Given the description of an element on the screen output the (x, y) to click on. 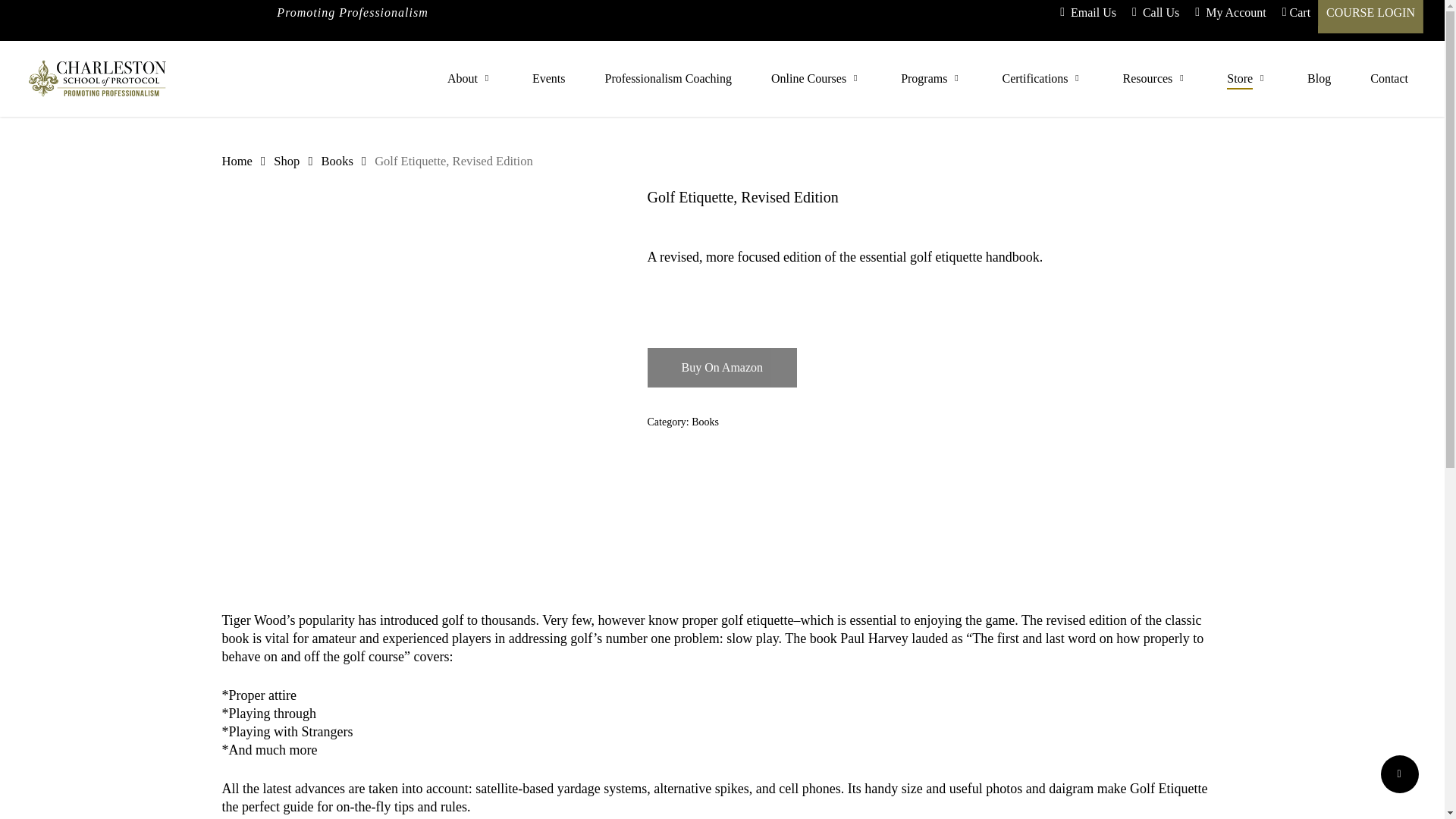
Resources (1155, 78)
  My Account (1229, 12)
Store (1247, 78)
Cart (1295, 12)
  Email Us (1087, 12)
About (469, 78)
COURSE LOGIN (1369, 12)
Events (549, 78)
Online Courses (816, 78)
  Call Us (1155, 12)
